Given the description of an element on the screen output the (x, y) to click on. 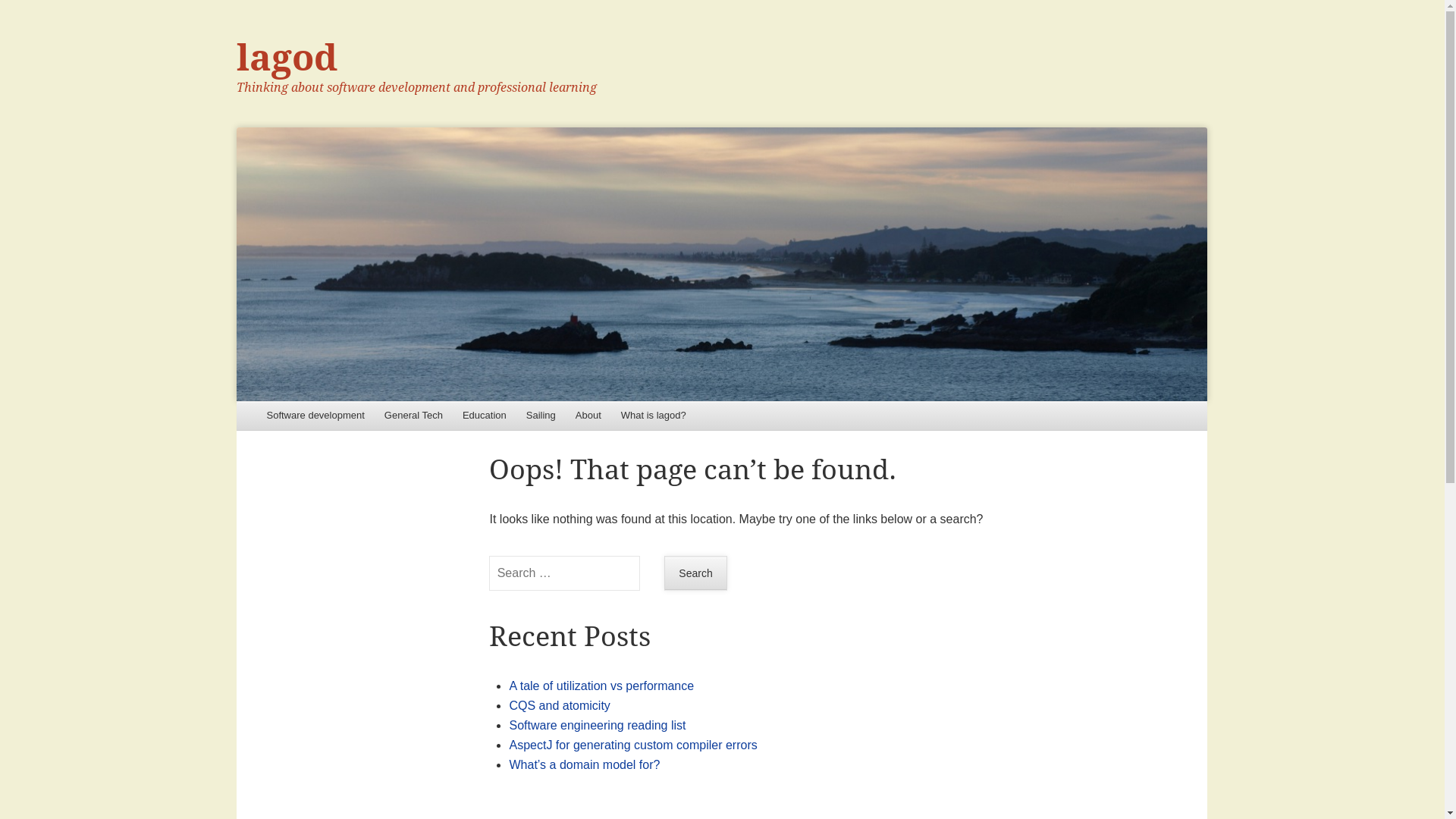
About Element type: text (588, 415)
What is lagod? Element type: text (653, 415)
Software engineering reading list Element type: text (596, 724)
AspectJ for generating custom compiler errors Element type: text (632, 744)
Education Element type: text (484, 415)
Search Element type: text (695, 572)
CQS and atomicity Element type: text (558, 705)
lagod Element type: hover (721, 264)
Skip to content Element type: text (278, 415)
A tale of utilization vs performance Element type: text (600, 685)
Software development Element type: text (314, 415)
lagod Element type: text (286, 57)
General Tech Element type: text (413, 415)
Sailing Element type: text (540, 415)
